Given the description of an element on the screen output the (x, y) to click on. 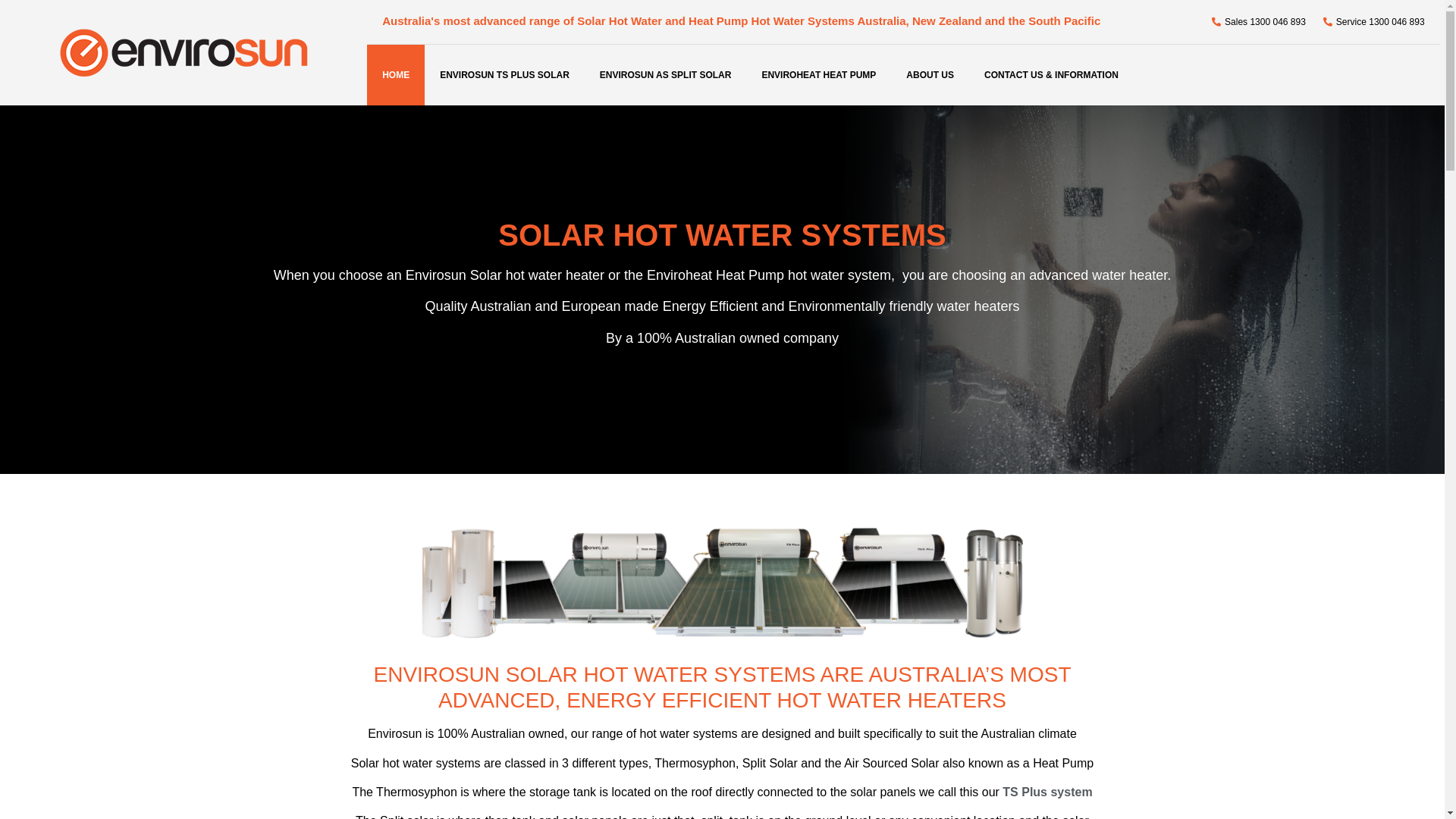
ENVIROSUN AS SPLIT SOLAR Element type: text (665, 74)
ABOUT US Element type: text (930, 74)
ENVIROSUN TS PLUS SOLAR Element type: text (504, 74)
ENVIROHEAT HEAT PUMP Element type: text (818, 74)
CONTACT US & INFORMATION Element type: text (1051, 74)
Sales 1300 046 893 Element type: text (1257, 21)
HOME Element type: text (395, 74)
TS Plus system Element type: text (1047, 791)
